Given the description of an element on the screen output the (x, y) to click on. 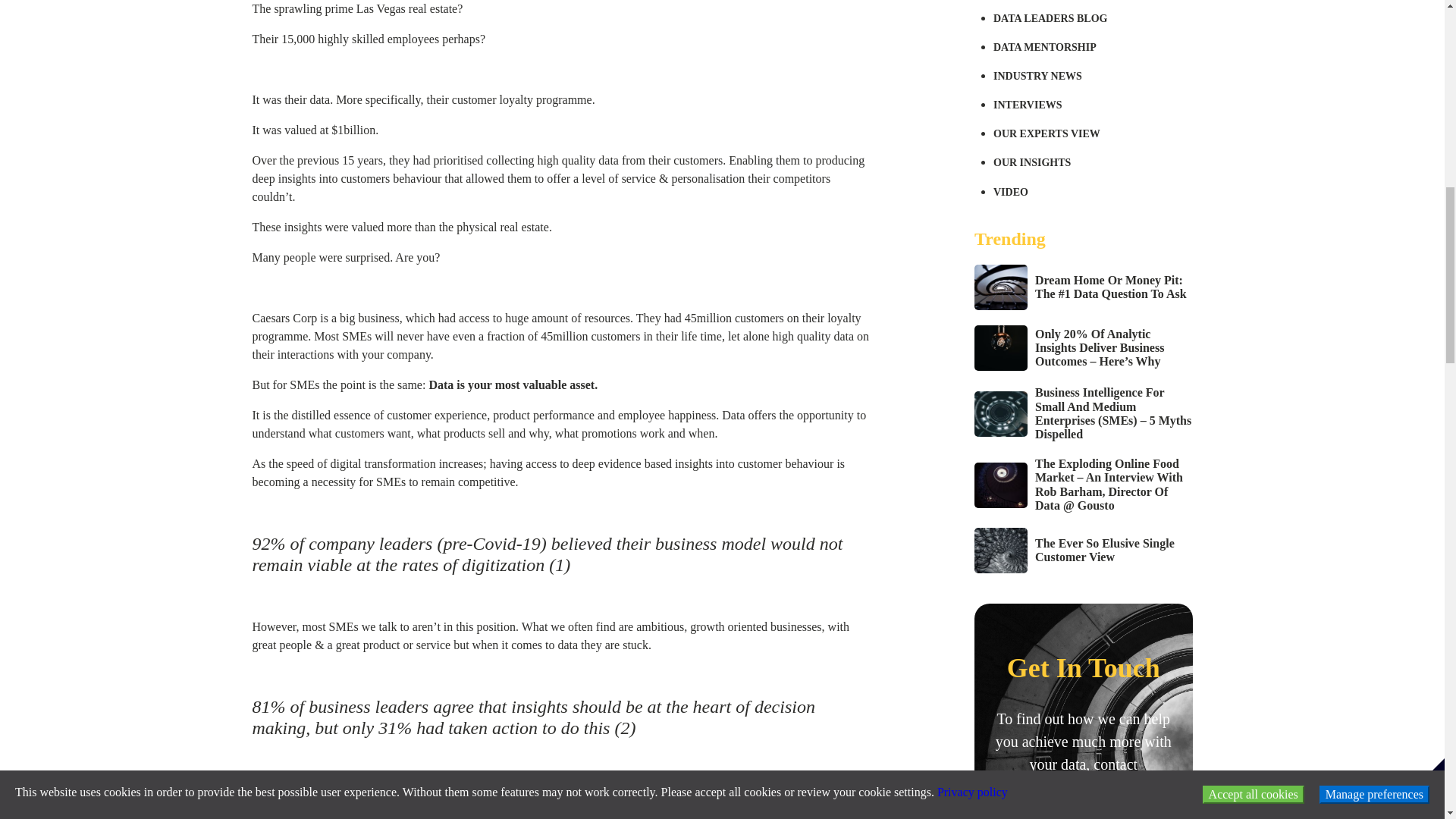
OUR EXPERTS VIEW (1092, 133)
OUR INSIGHTS (1092, 162)
DATA LEADERS BLOG (1092, 19)
VIDEO (1092, 192)
INDUSTRY NEWS (1092, 76)
INTERVIEWS (1092, 105)
The Ever So Elusive Single Customer View (1083, 550)
DATA MENTORSHIP (1092, 47)
